Given the description of an element on the screen output the (x, y) to click on. 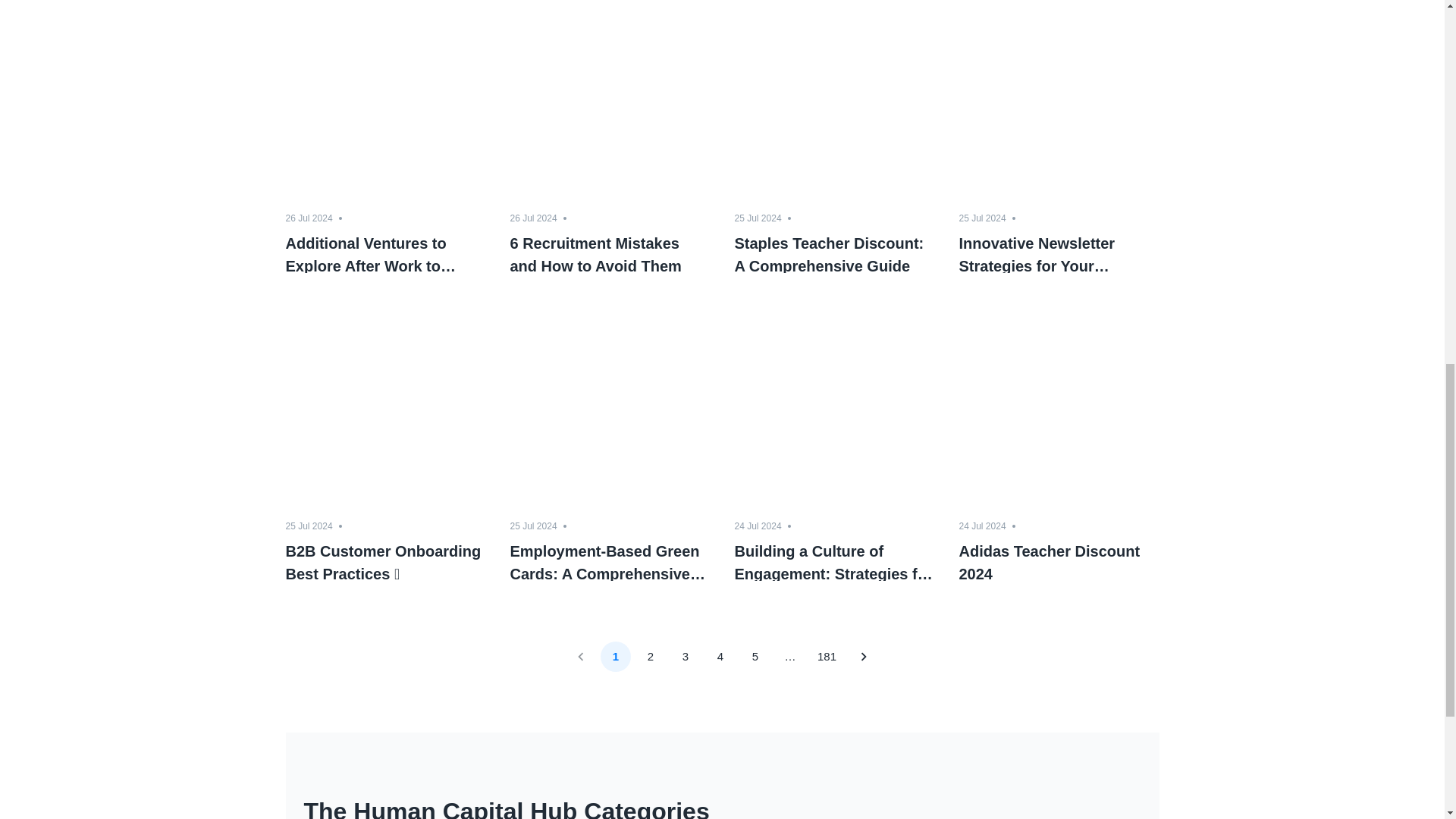
1 (614, 656)
Staples Teacher Discount: A Comprehensive Guide (833, 251)
Employment-Based Green Cards: A Comprehensive Guide (609, 559)
3 (684, 656)
6 Recruitment Mistakes and How to Avoid Them (609, 251)
Adidas Teacher Discount 2024 (1058, 559)
Innovative Newsletter Strategies for Your Coworking Space (1058, 251)
181 (826, 656)
5 (754, 656)
4 (719, 656)
2 (649, 656)
